Given the description of an element on the screen output the (x, y) to click on. 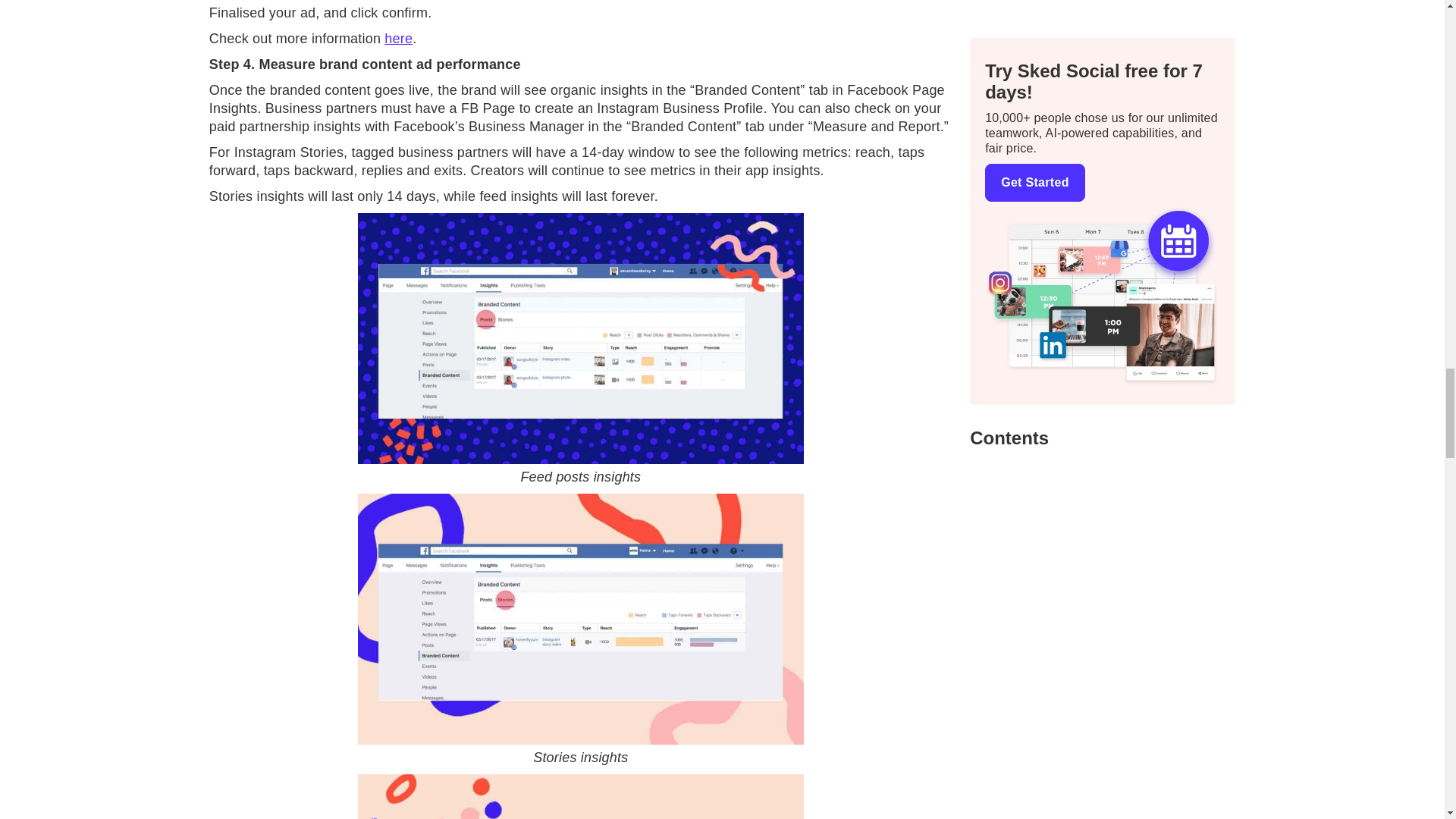
here (398, 38)
